Given the description of an element on the screen output the (x, y) to click on. 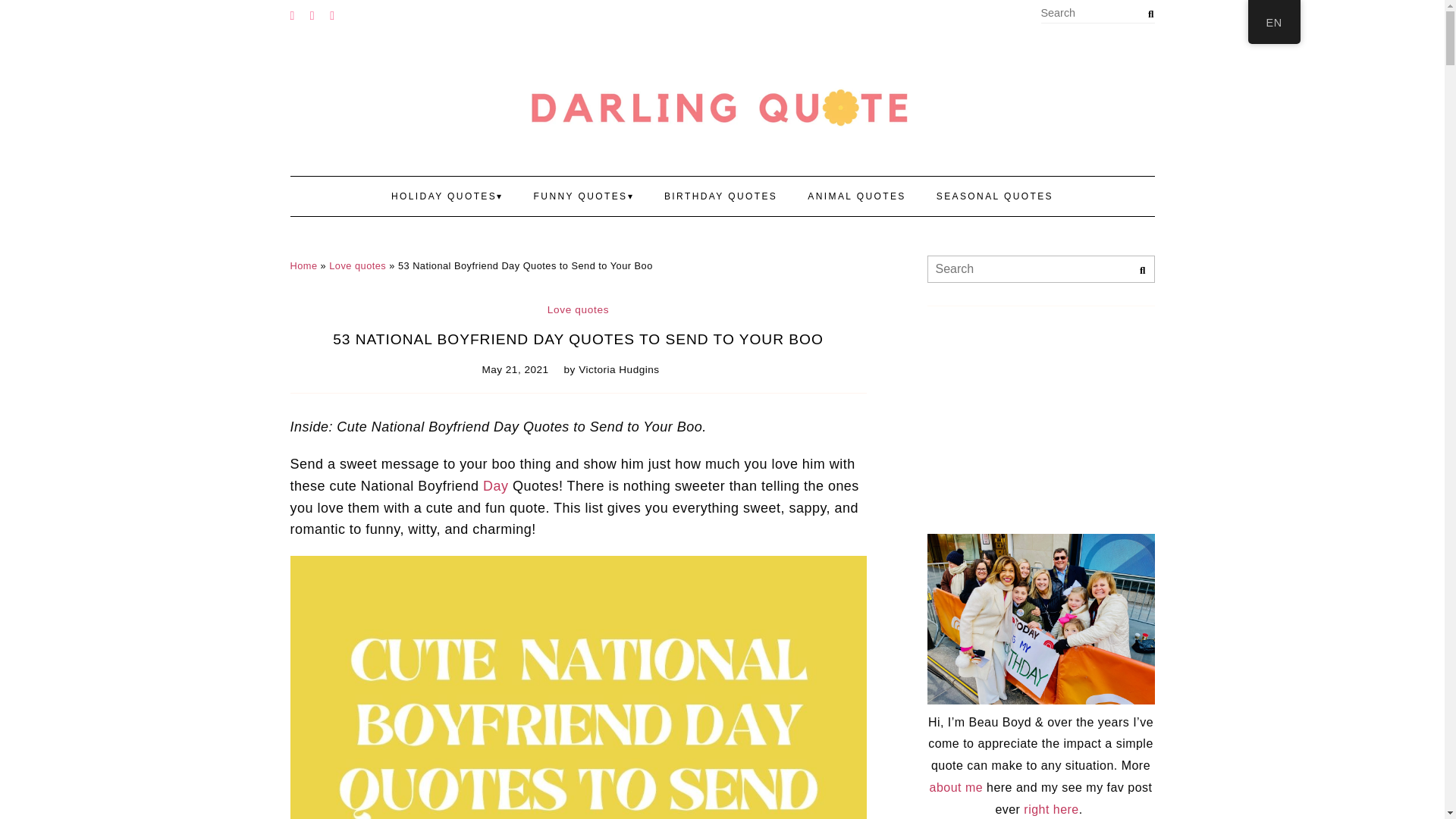
BIRTHDAY QUOTES (720, 196)
HOLIDAY QUOTES (446, 196)
FUNNY QUOTES (583, 196)
SEASONAL QUOTES (994, 196)
53 NATIONAL BOYFRIEND DAY QUOTES TO SEND TO YOUR BOO (578, 339)
Love quotes (578, 309)
ANIMAL QUOTES (856, 196)
Home (303, 265)
Darling Quote (722, 107)
Love quotes (357, 265)
Day (495, 485)
53 National Boyfriend Day Quotes to Send to Your Boo (578, 339)
